Given the description of an element on the screen output the (x, y) to click on. 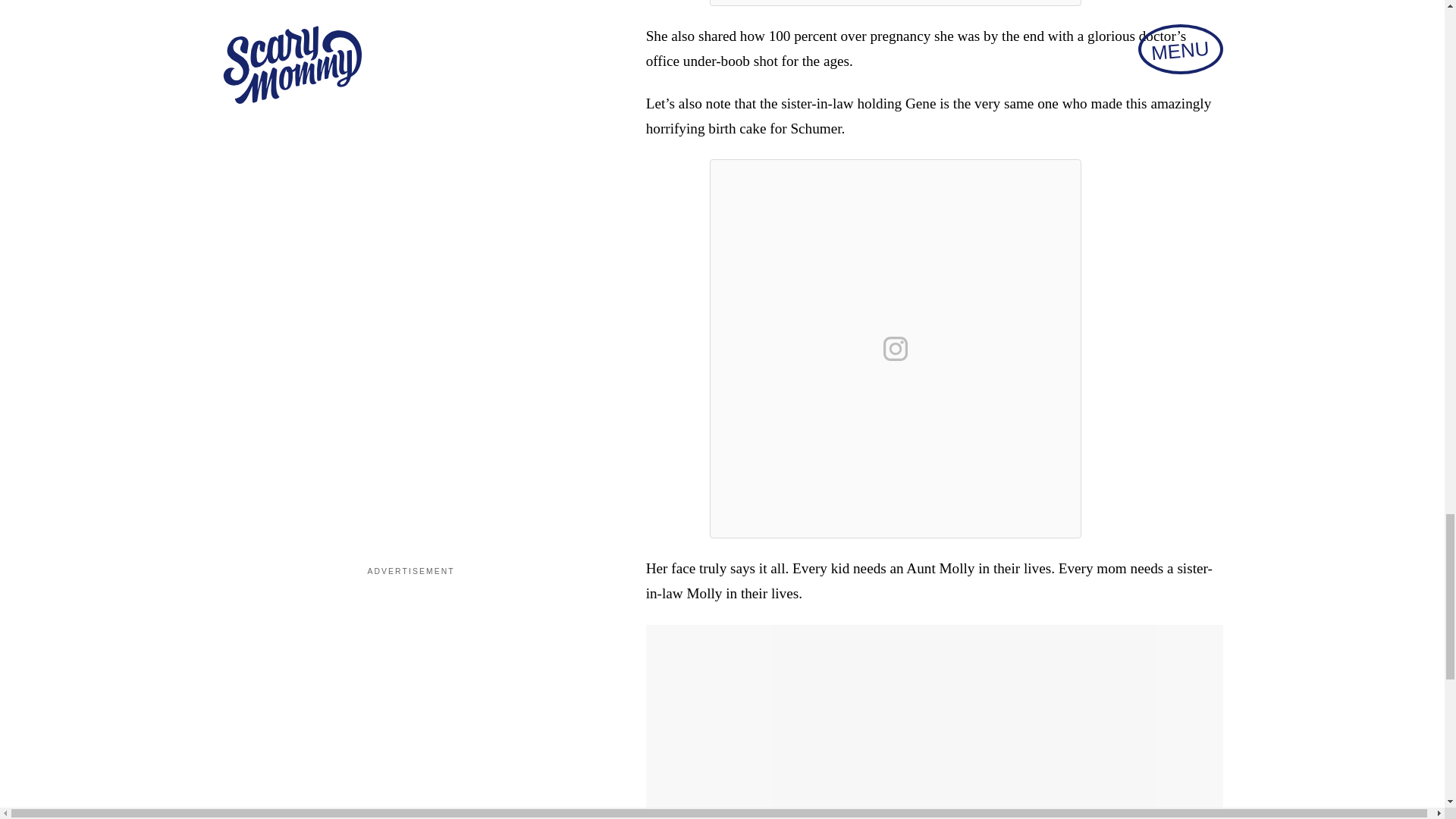
View on Instagram (895, 348)
